Given the description of an element on the screen output the (x, y) to click on. 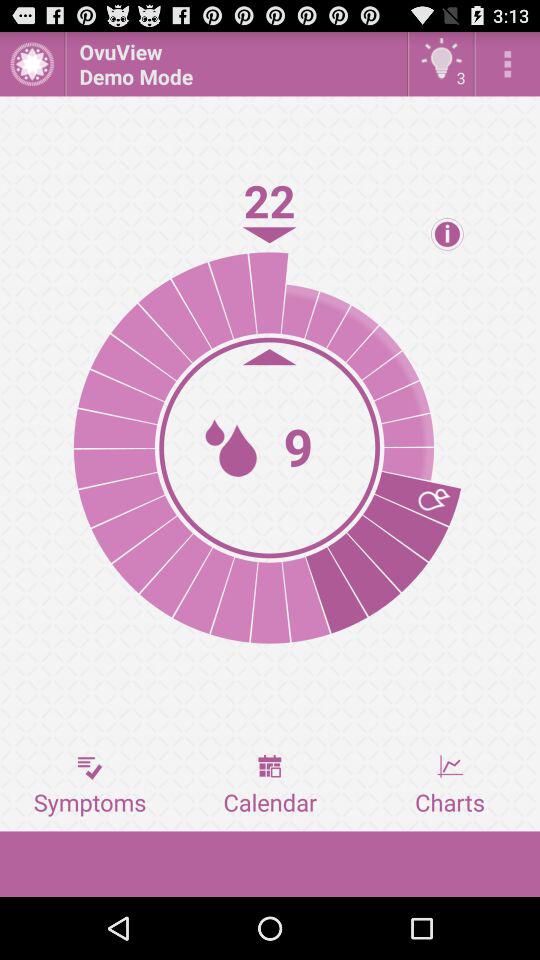
scroll until the calendar item (270, 785)
